Given the description of an element on the screen output the (x, y) to click on. 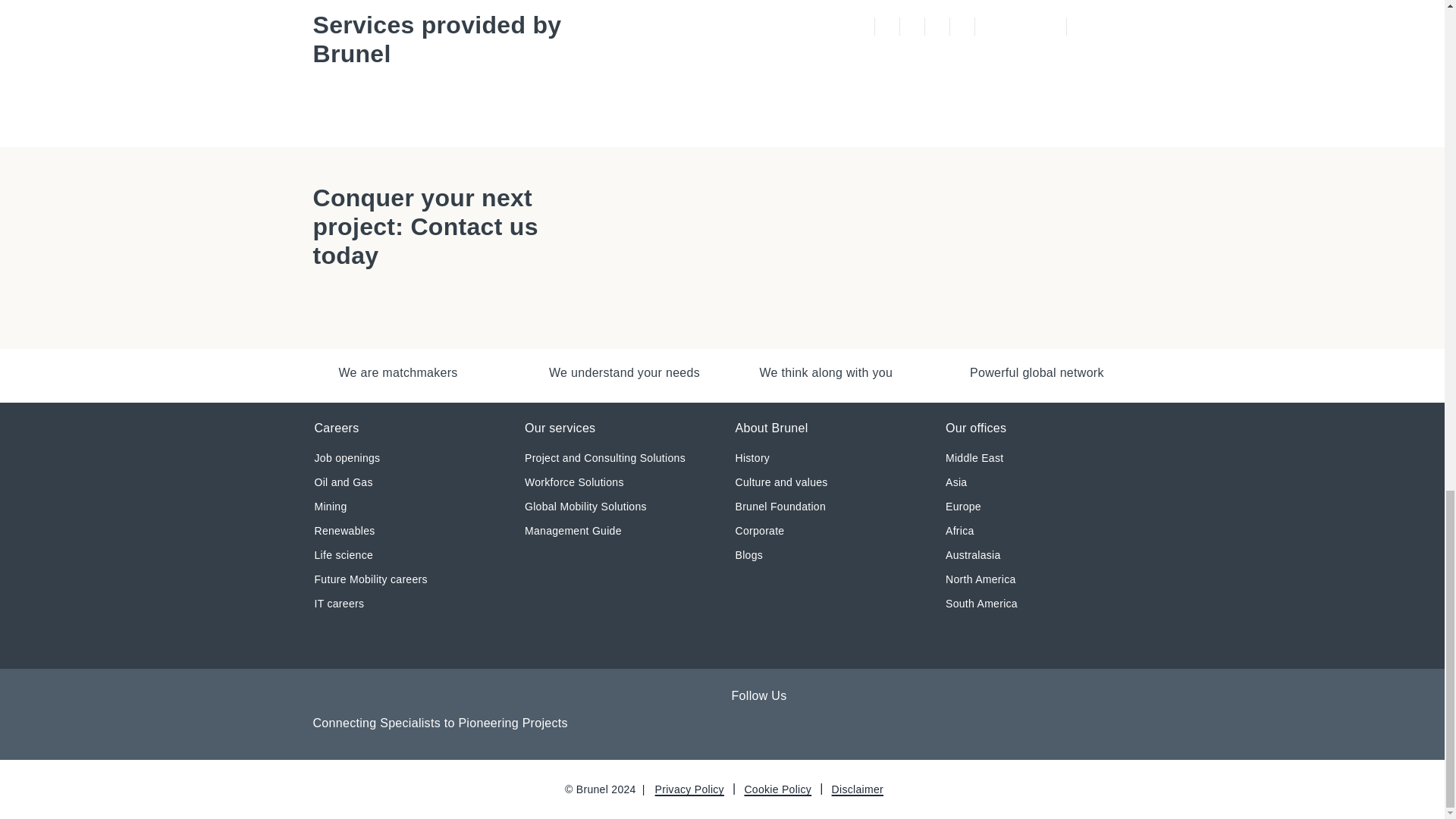
IT careers (339, 603)
Global Mobility Solutions (585, 506)
Mining (330, 506)
Middle East (973, 458)
History (752, 458)
Our offices (975, 429)
Our services (559, 429)
Workforce Solutions (574, 482)
Future Mobility careers (370, 579)
Careers (336, 429)
